Given the description of an element on the screen output the (x, y) to click on. 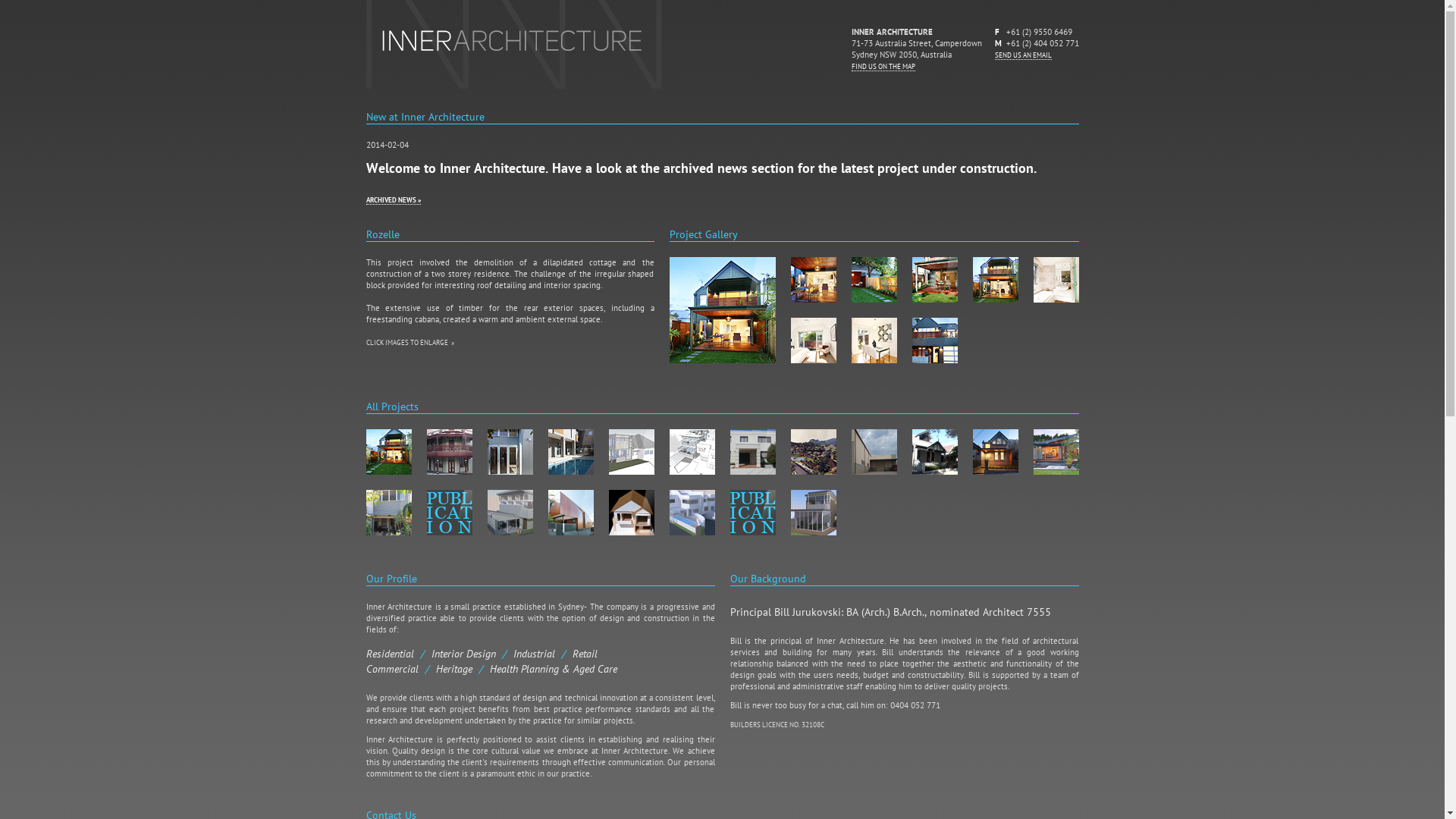
FIND US ON THE MAP Element type: text (882, 66)
SEND US AN EMAIL Element type: text (1022, 55)
